Given the description of an element on the screen output the (x, y) to click on. 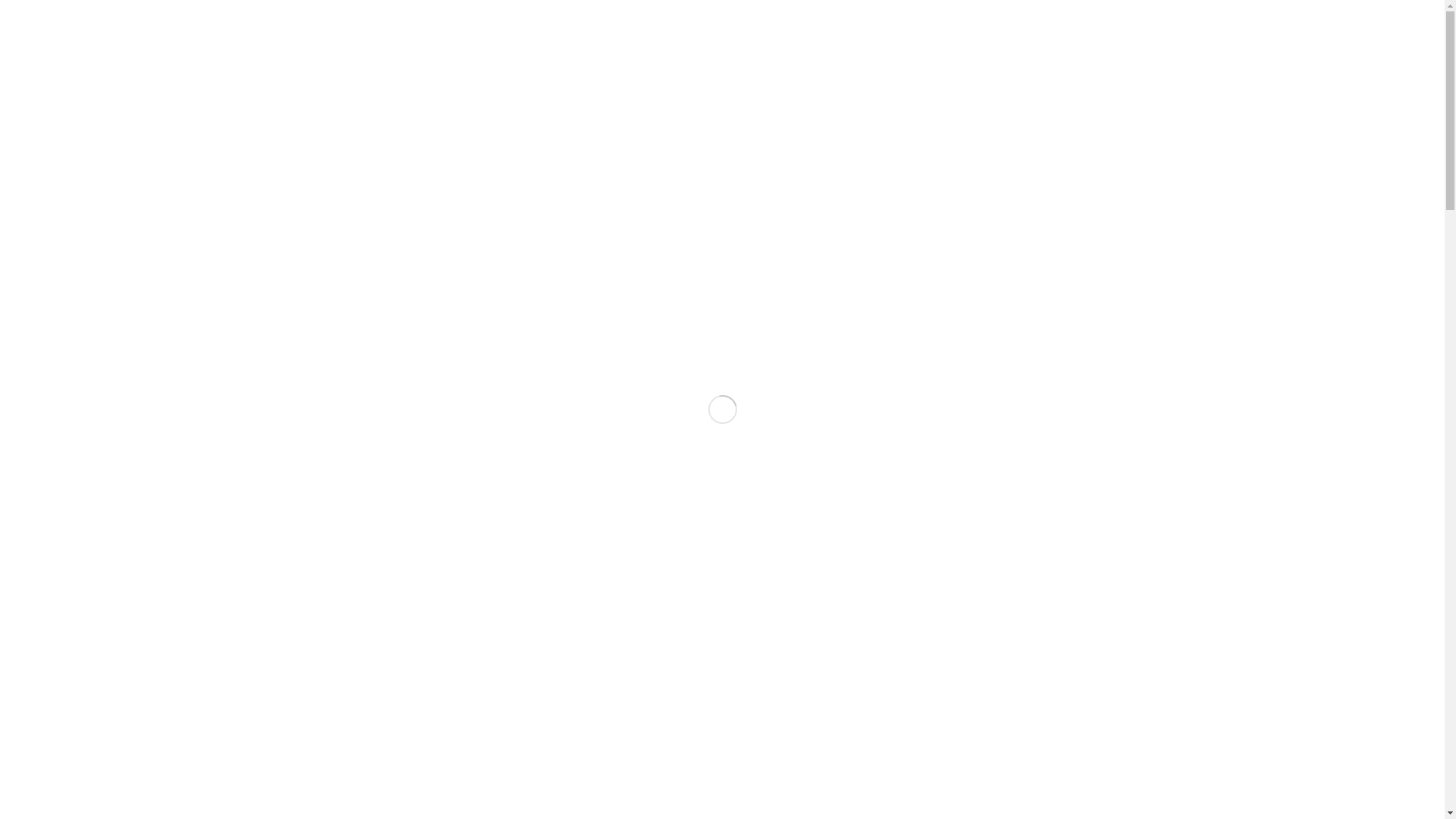
Art Element type: text (1028, 427)
Objectes Casa Museu Element type: text (1173, 333)
Inici Element type: text (186, 168)
Altres edicions Element type: text (1138, 239)
1 Element type: text (1226, 63)
Verdaguer edicions Element type: text (1173, 192)
Llibres Element type: text (1055, 145)
Llibreria Element type: text (233, 168)
Visualitza la cistella Element type: text (227, 187)
Espectacles i concerts Element type: text (1185, 380)
